Given the description of an element on the screen output the (x, y) to click on. 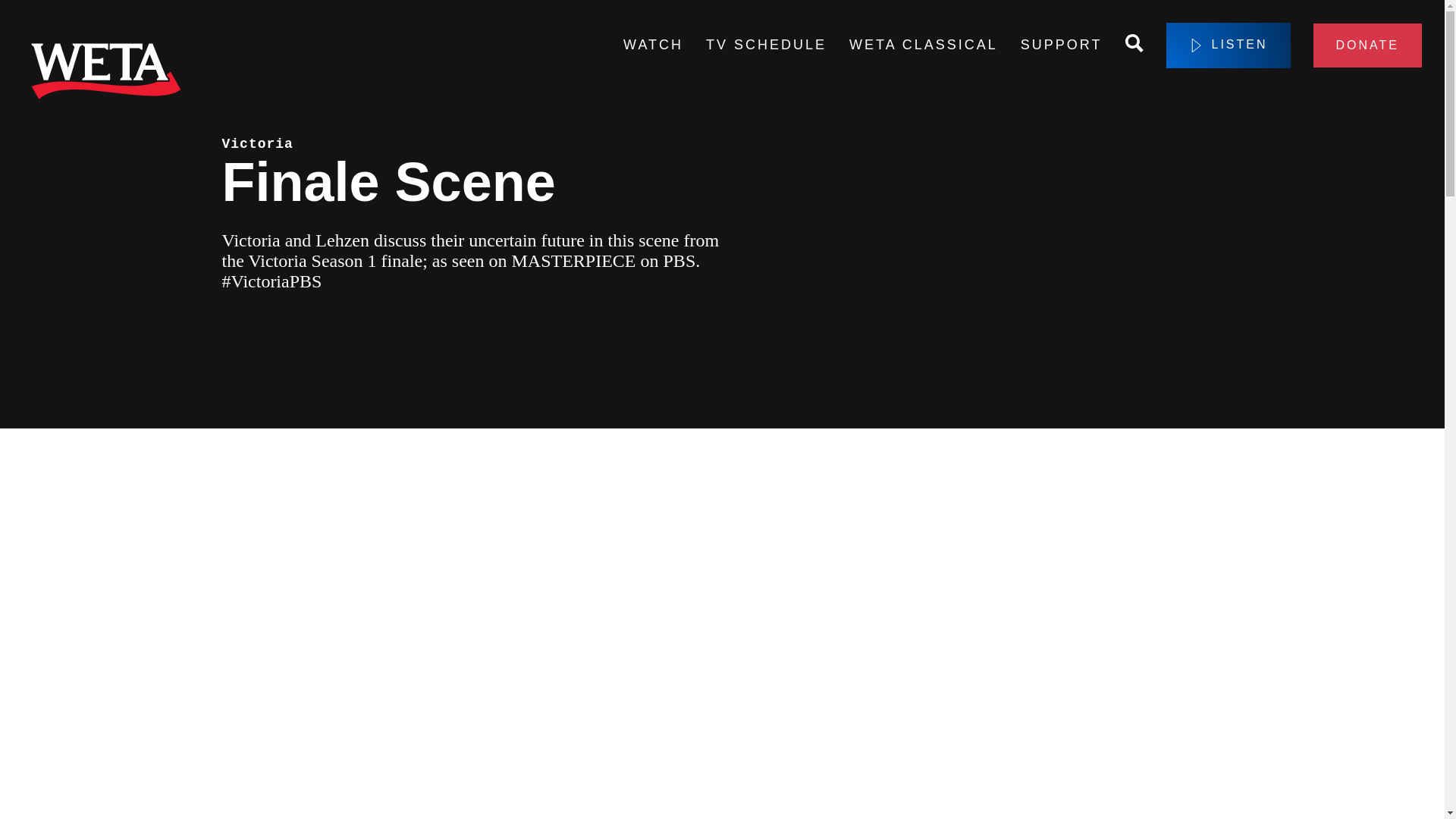
SUPPORT (1061, 45)
TV SCHEDULE (766, 45)
DONATE (1367, 45)
WETA CLASSICAL (922, 45)
Home (106, 73)
WATCH (652, 45)
Victoria (256, 143)
LISTEN (1228, 44)
